Given the description of an element on the screen output the (x, y) to click on. 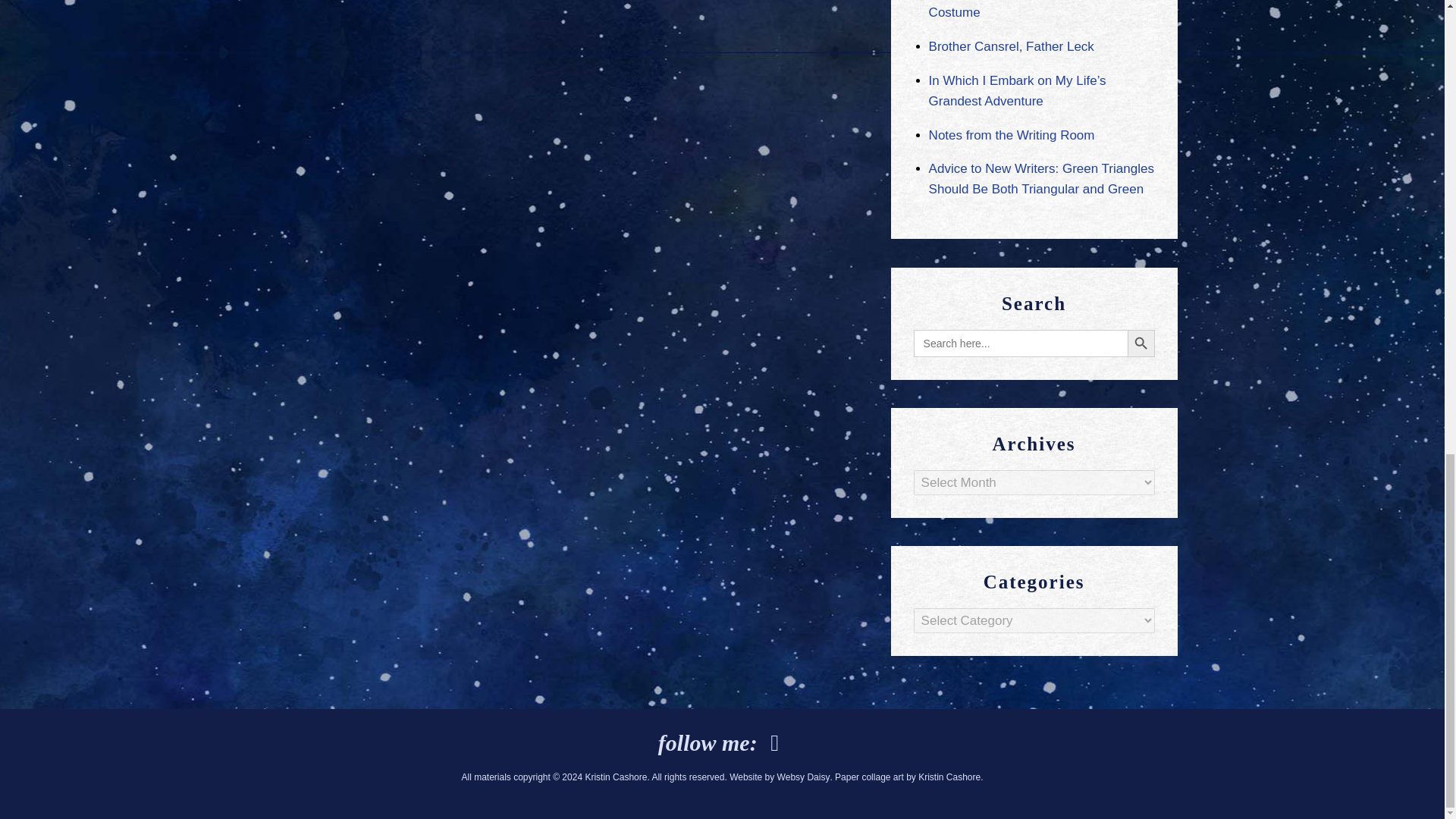
Notes from the Writing Room (1011, 134)
Brother Cansrel, Father Leck (1011, 46)
In Which the Author Makes a Library Costume (1032, 9)
Search Button (1140, 343)
Websy Daisy (803, 777)
